Given the description of an element on the screen output the (x, y) to click on. 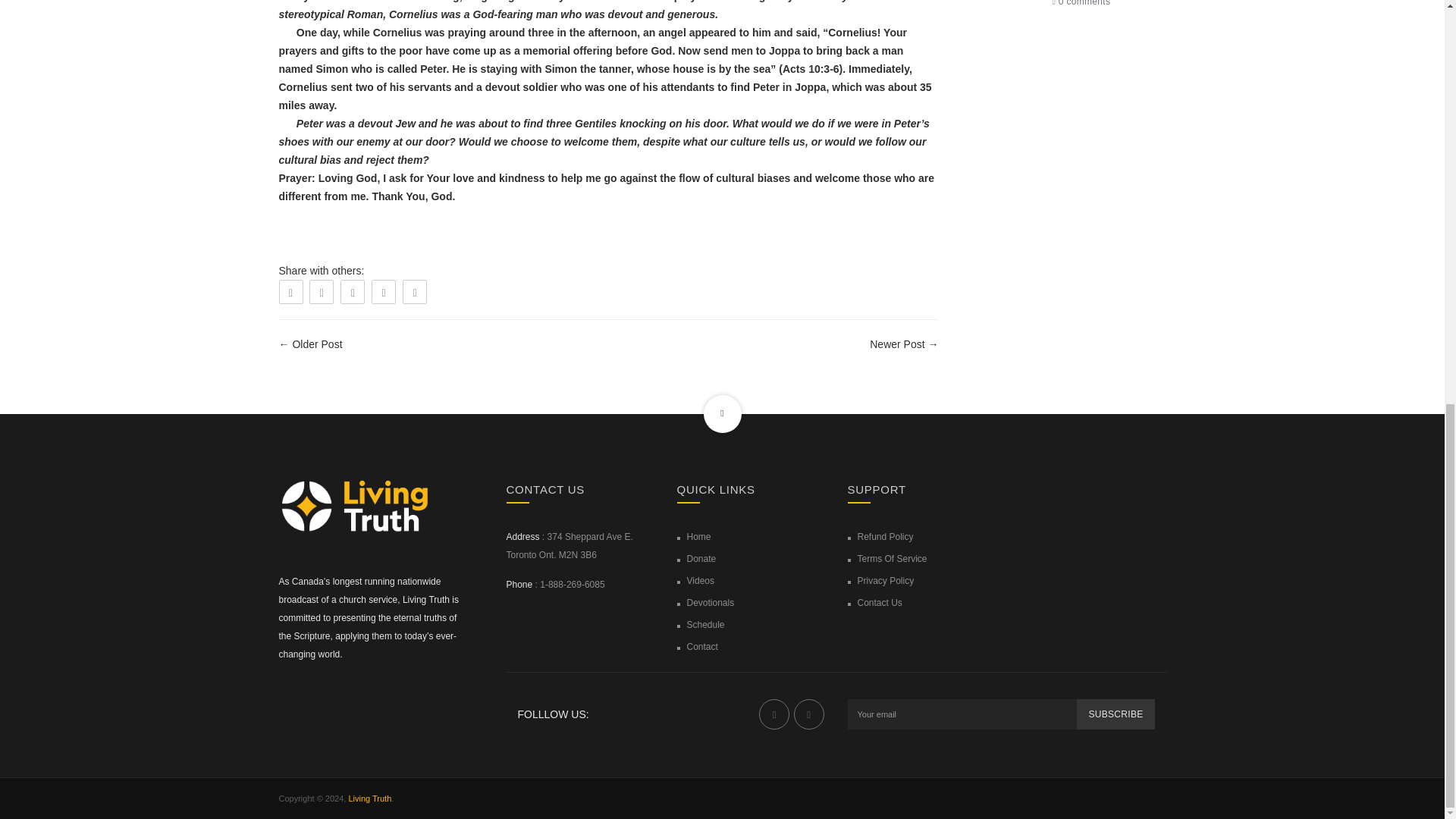
Home (699, 536)
Newer Post (896, 344)
Donate (701, 558)
Videos (700, 580)
Living Truth on Facebook (773, 714)
Older Post (317, 344)
Living Truth on YouTube (808, 714)
